Given the description of an element on the screen output the (x, y) to click on. 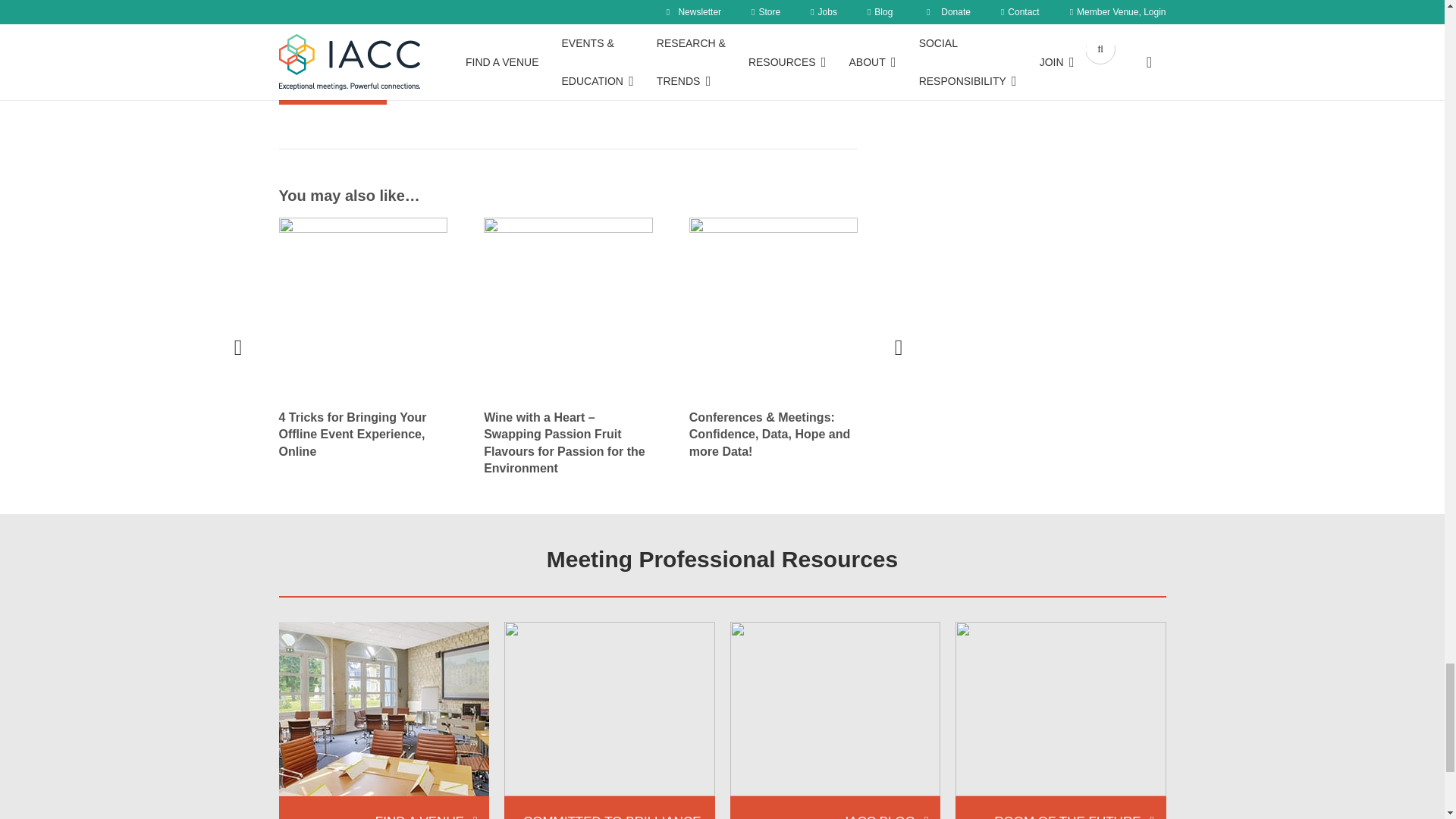
1 (567, 55)
